Given the description of an element on the screen output the (x, y) to click on. 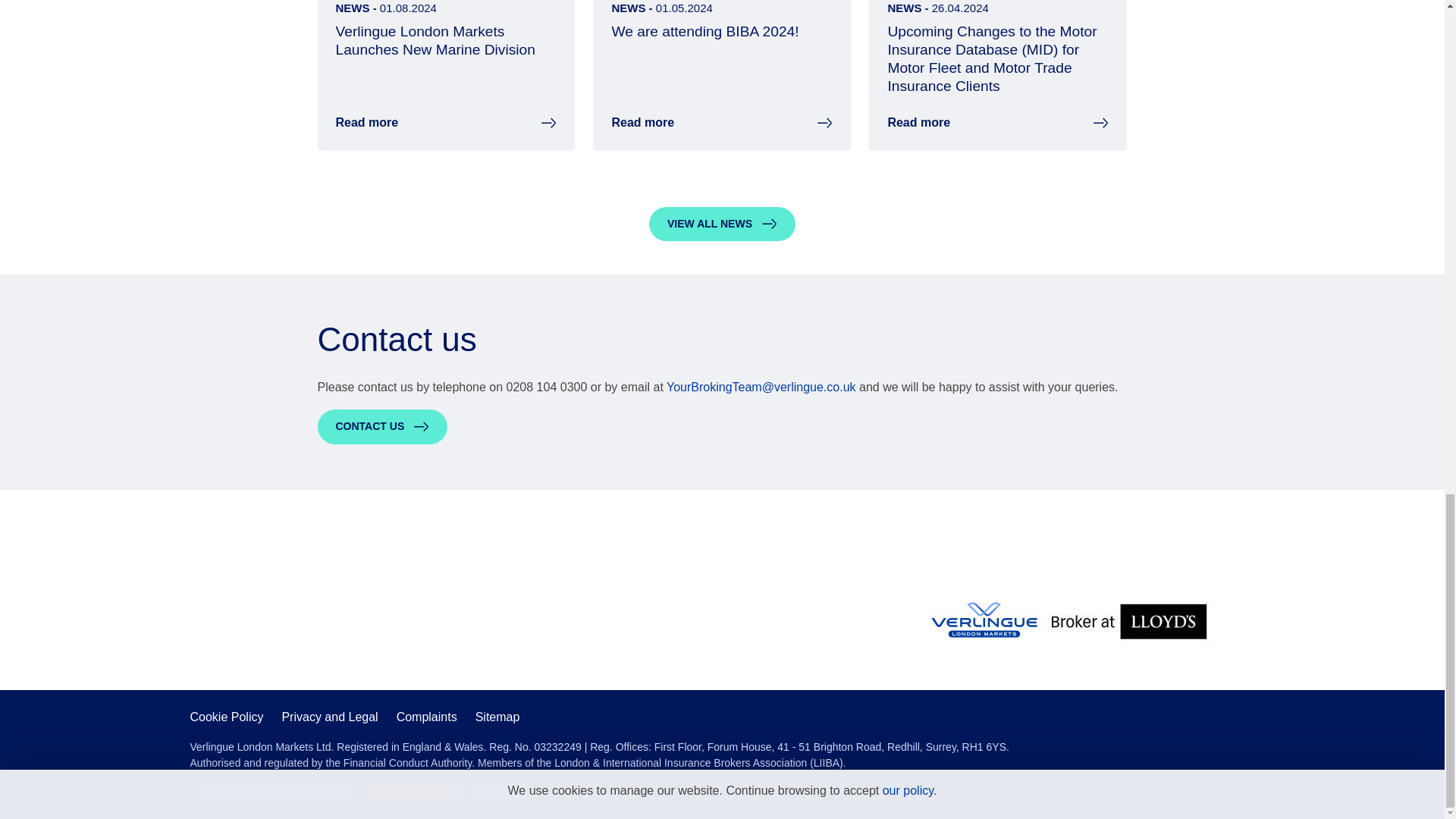
Read more (365, 122)
Complaints (426, 717)
Sitemap (497, 717)
Privacy and Legal (329, 717)
Cookie Policy (226, 717)
Read more (642, 122)
Verlingue London Markets Launches New Marine Division (434, 40)
We are attending BIBA 2024! (704, 31)
